Given the description of an element on the screen output the (x, y) to click on. 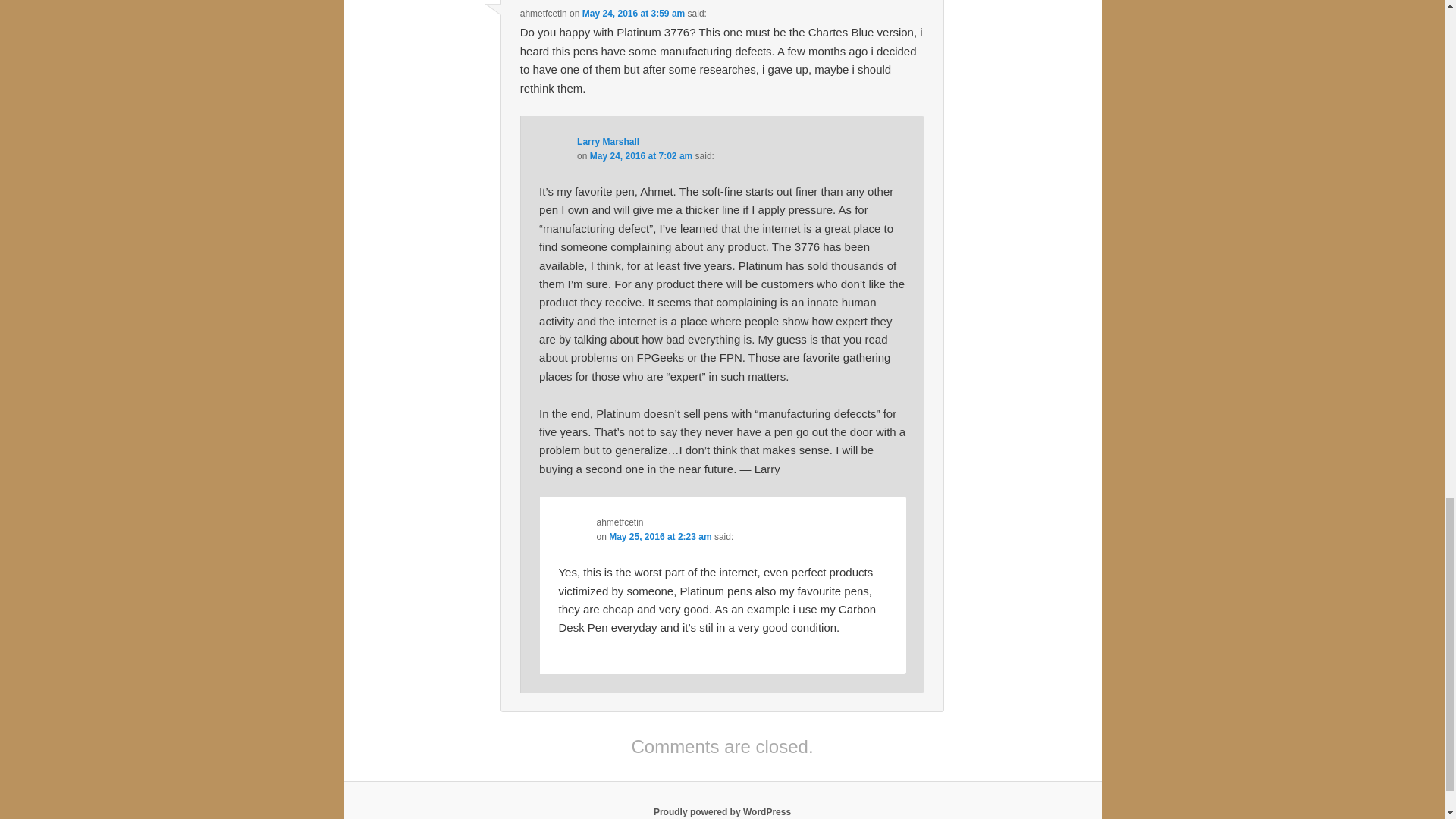
Proudly powered by WordPress (721, 811)
May 25, 2016 at 2:23 am (659, 536)
May 24, 2016 at 7:02 am (641, 155)
Larry Marshall (607, 141)
Semantic Personal Publishing Platform (721, 811)
May 24, 2016 at 3:59 am (633, 13)
